Given the description of an element on the screen output the (x, y) to click on. 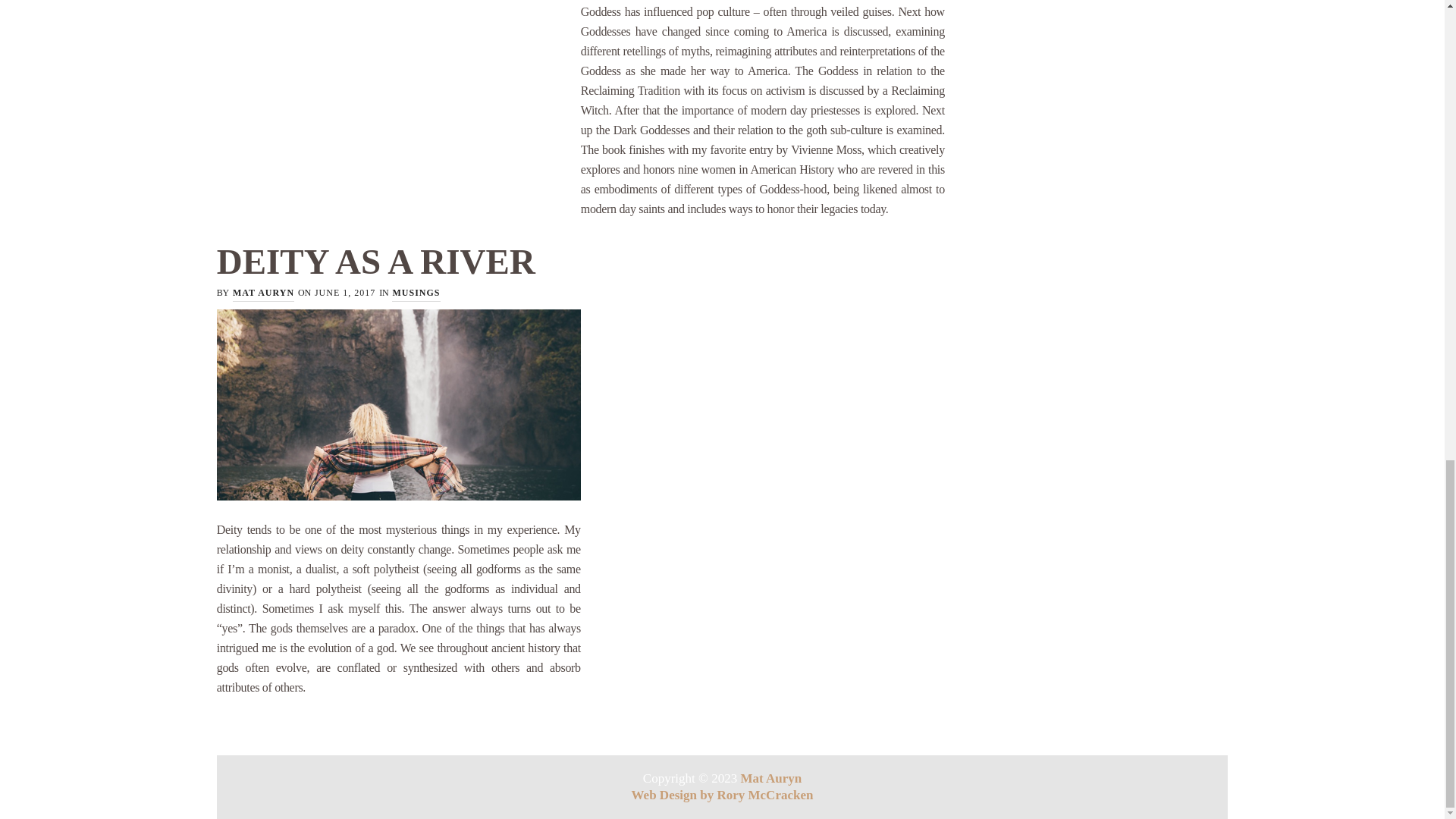
DEITY AS A RIVER (375, 261)
Mat Auryn (770, 778)
MAT AURYN (263, 293)
MUSINGS (415, 293)
2017-06-01 (344, 292)
Web Design by Rory McCracken (722, 794)
